Given the description of an element on the screen output the (x, y) to click on. 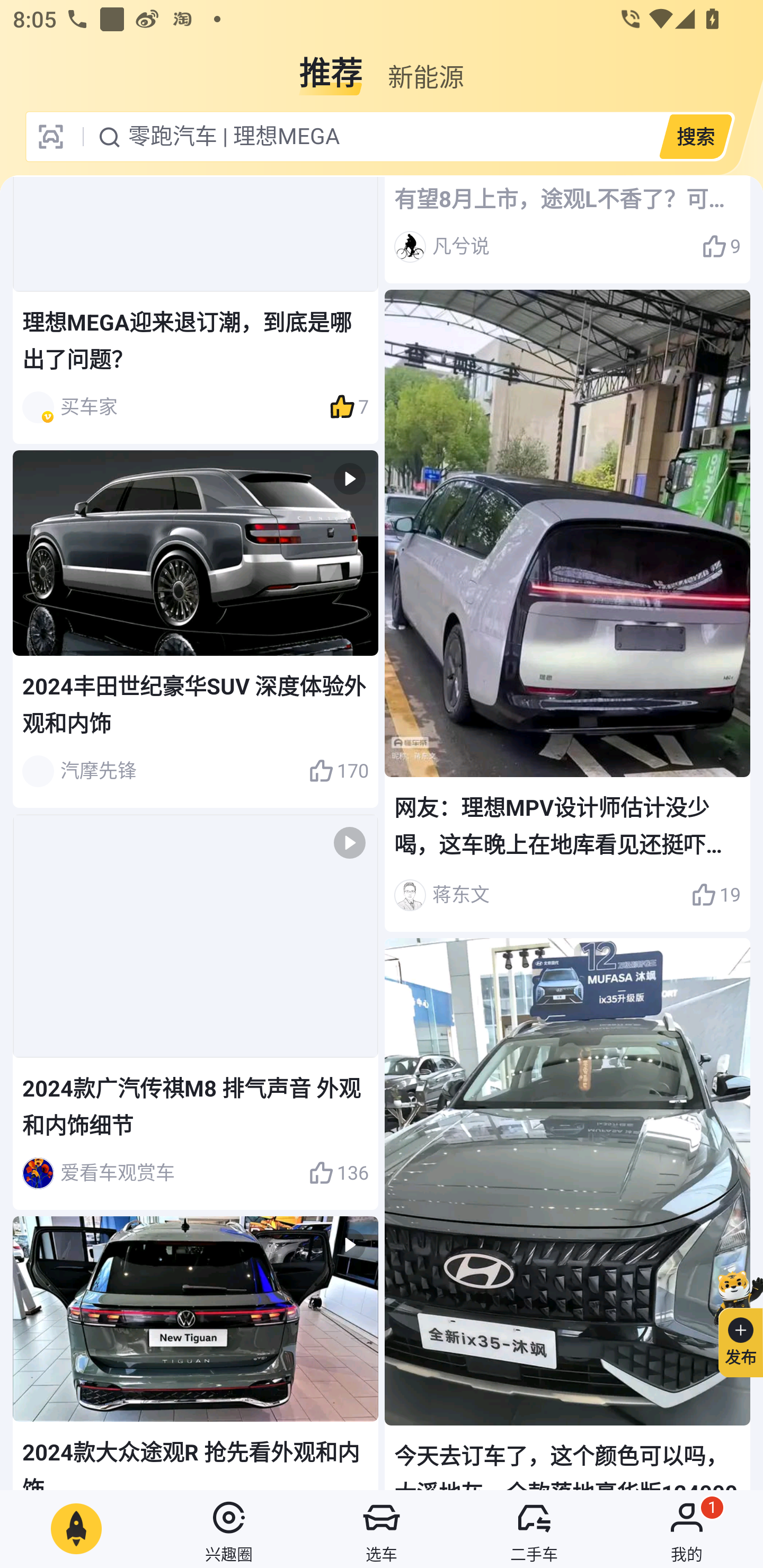
推荐 (330, 65)
新能源 (425, 65)
搜索 (695, 136)
理想MEGA迎来退订潮，到底是哪出了问题？ 买车家 7 (195, 310)
9 (720, 246)
7 (348, 407)
 2024丰田世纪豪华SUV 深度体验外观和内饰 汽摩先锋 170 (195, 628)
170 (338, 770)
 2024款广汽传祺M8 排气声音 外观和内饰细节 爱看车观赏车 136 (195, 1011)
19 (715, 894)
今天去订车了，这个颜色可以吗，大溪地灰，全款落地豪华版124000 (567, 1213)
136 (338, 1173)
 2024款大众途观R 抢先看外观和内饰 (195, 1352)
发布 (732, 1321)
 兴趣圈 (228, 1528)
 选车 (381, 1528)
 二手车 (533, 1528)
 我的 (686, 1528)
